Given the description of an element on the screen output the (x, y) to click on. 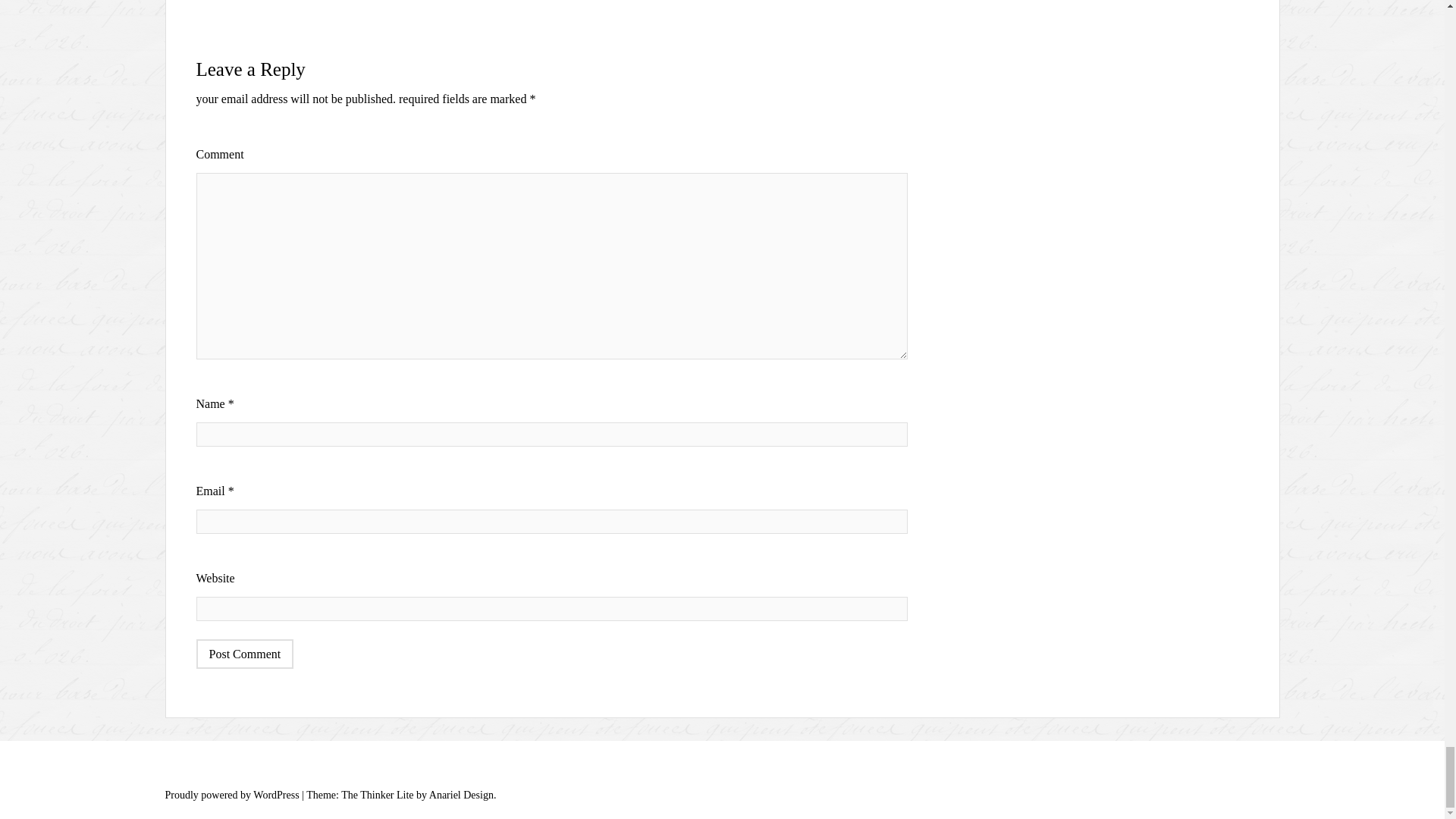
Post Comment (244, 654)
A Semantic Personal Publishing Platform (232, 794)
